Given the description of an element on the screen output the (x, y) to click on. 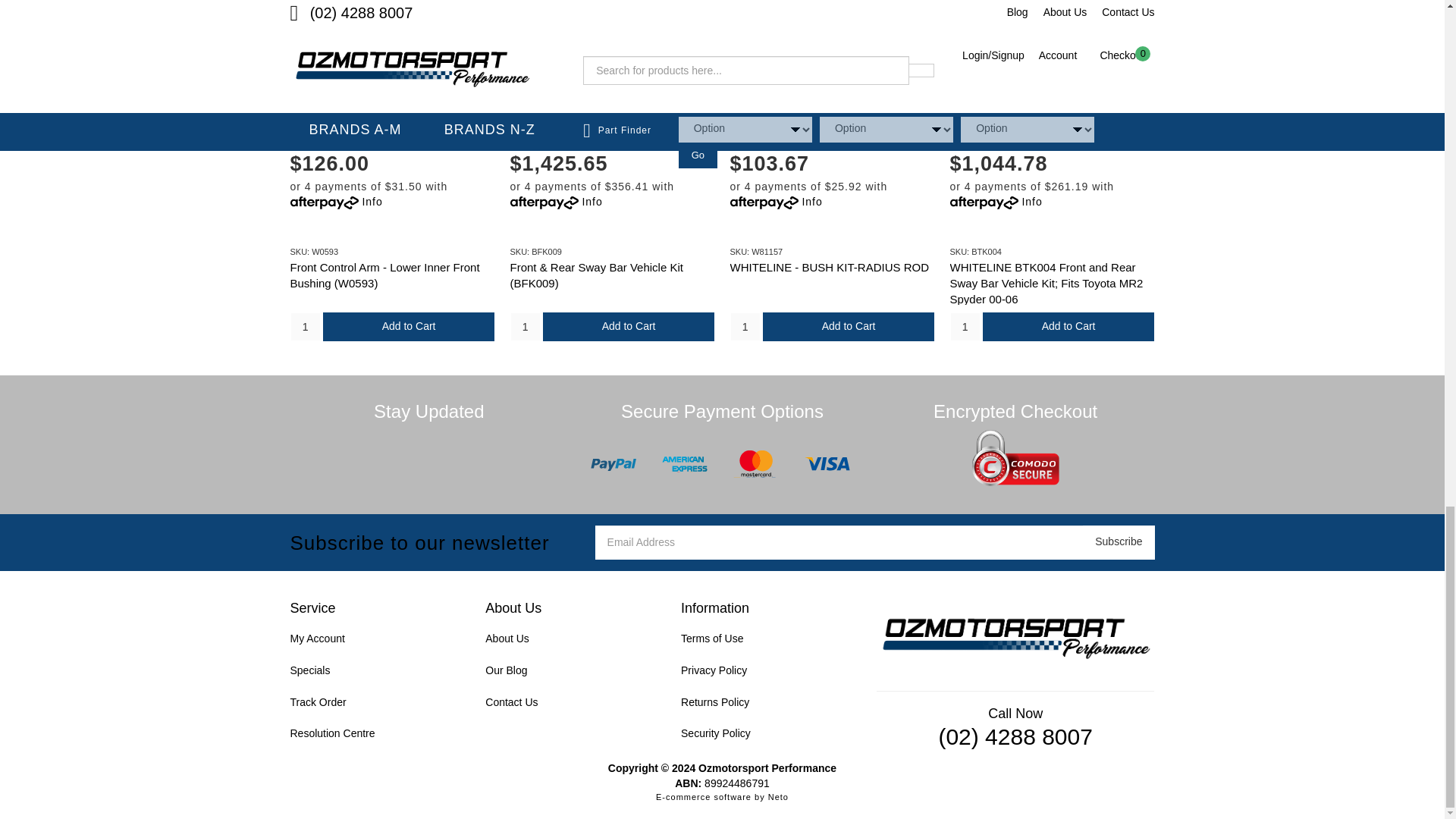
Add to Cart (409, 326)
1 (304, 326)
1 (524, 326)
Subscribe (1118, 542)
Whiteline (696, 119)
1 (744, 326)
1 (964, 326)
Whiteline (476, 119)
